Given the description of an element on the screen output the (x, y) to click on. 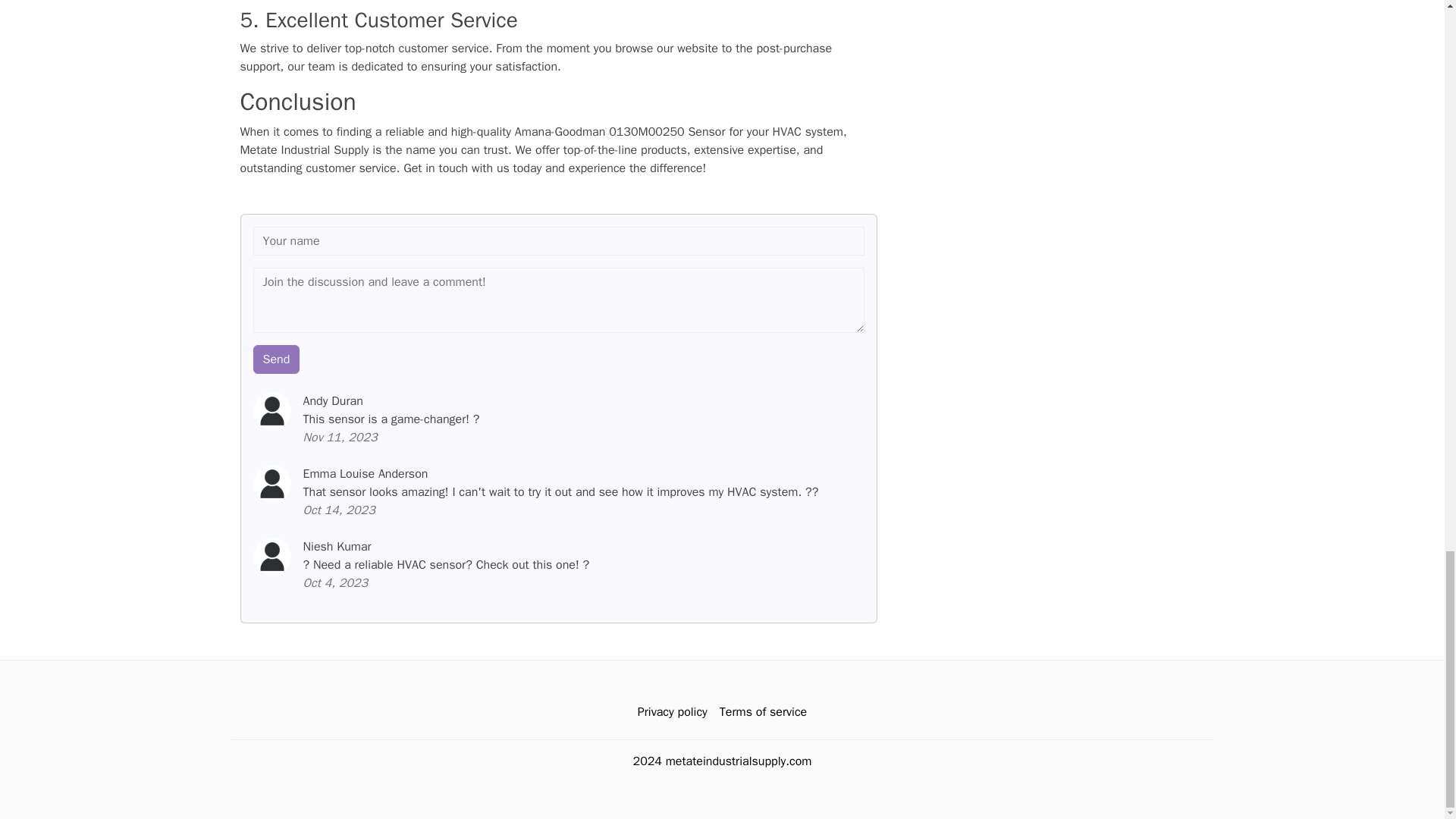
Send (276, 358)
Send (276, 358)
Privacy policy (672, 711)
Terms of service (762, 711)
